Given the description of an element on the screen output the (x, y) to click on. 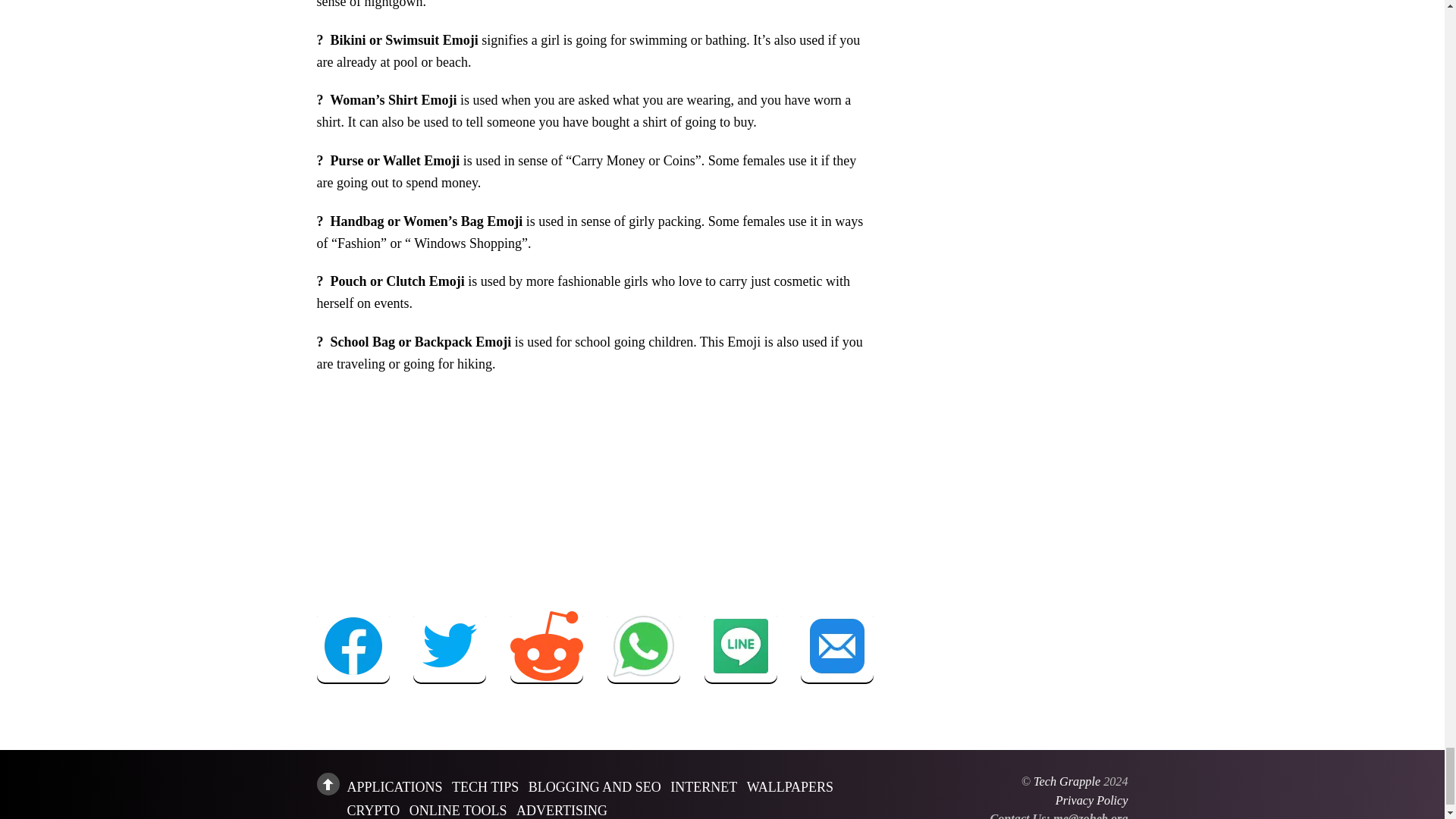
ONLINE TOOLS (457, 809)
APPLICATIONS (394, 786)
WALLPAPERS (789, 786)
Privacy Policy (1091, 800)
Tech Grapple (1066, 781)
TECH TIPS (484, 786)
ADVERTISING (561, 809)
INTERNET (702, 786)
CRYPTO (373, 809)
BLOGGING AND SEO (594, 786)
